Given the description of an element on the screen output the (x, y) to click on. 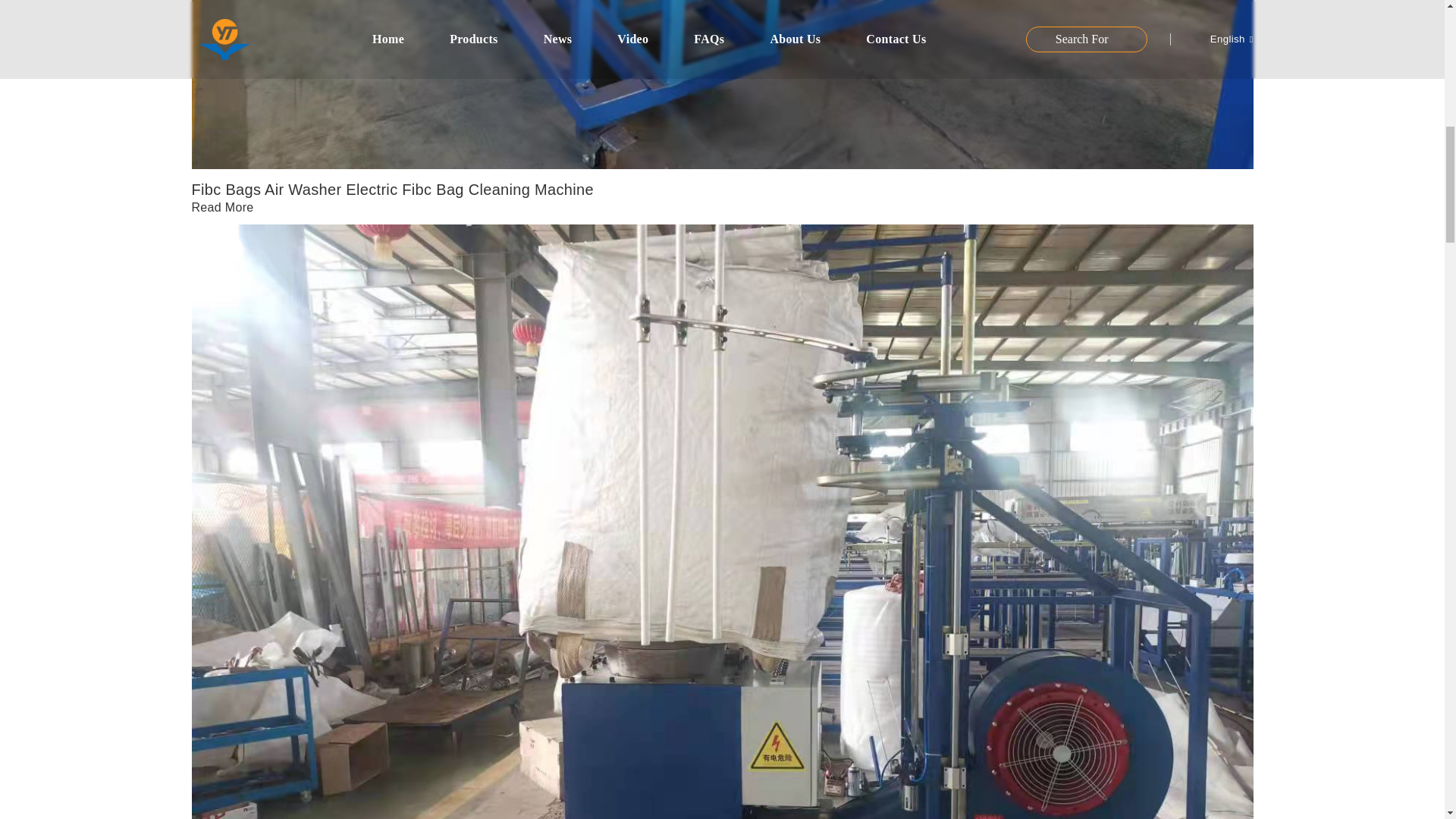
Fibc Bags Air Washer Electric Fibc Bag Cleaning Machine (221, 206)
Fibc Bags Air Washer Electric Fibc Bag Cleaning Machine (391, 189)
